Given the description of an element on the screen output the (x, y) to click on. 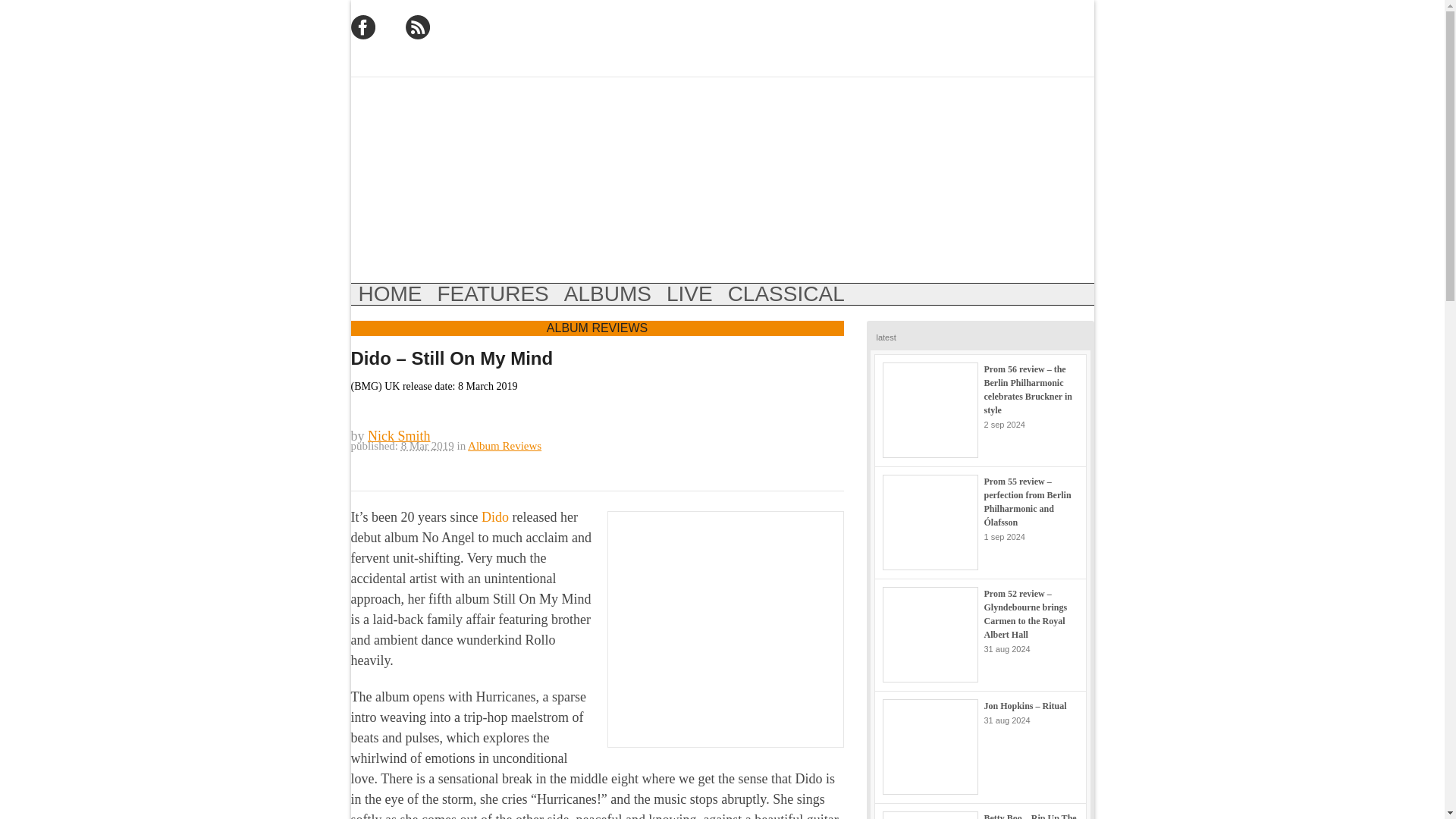
album reviews (607, 293)
features and interviews (492, 293)
Posts by Nick Smith (399, 435)
FEATURES (492, 293)
Facebook (362, 27)
Nick Smith (399, 435)
HOME (389, 293)
ALBUMS (607, 293)
CLASSICAL (785, 293)
Feed (416, 27)
